Given the description of an element on the screen output the (x, y) to click on. 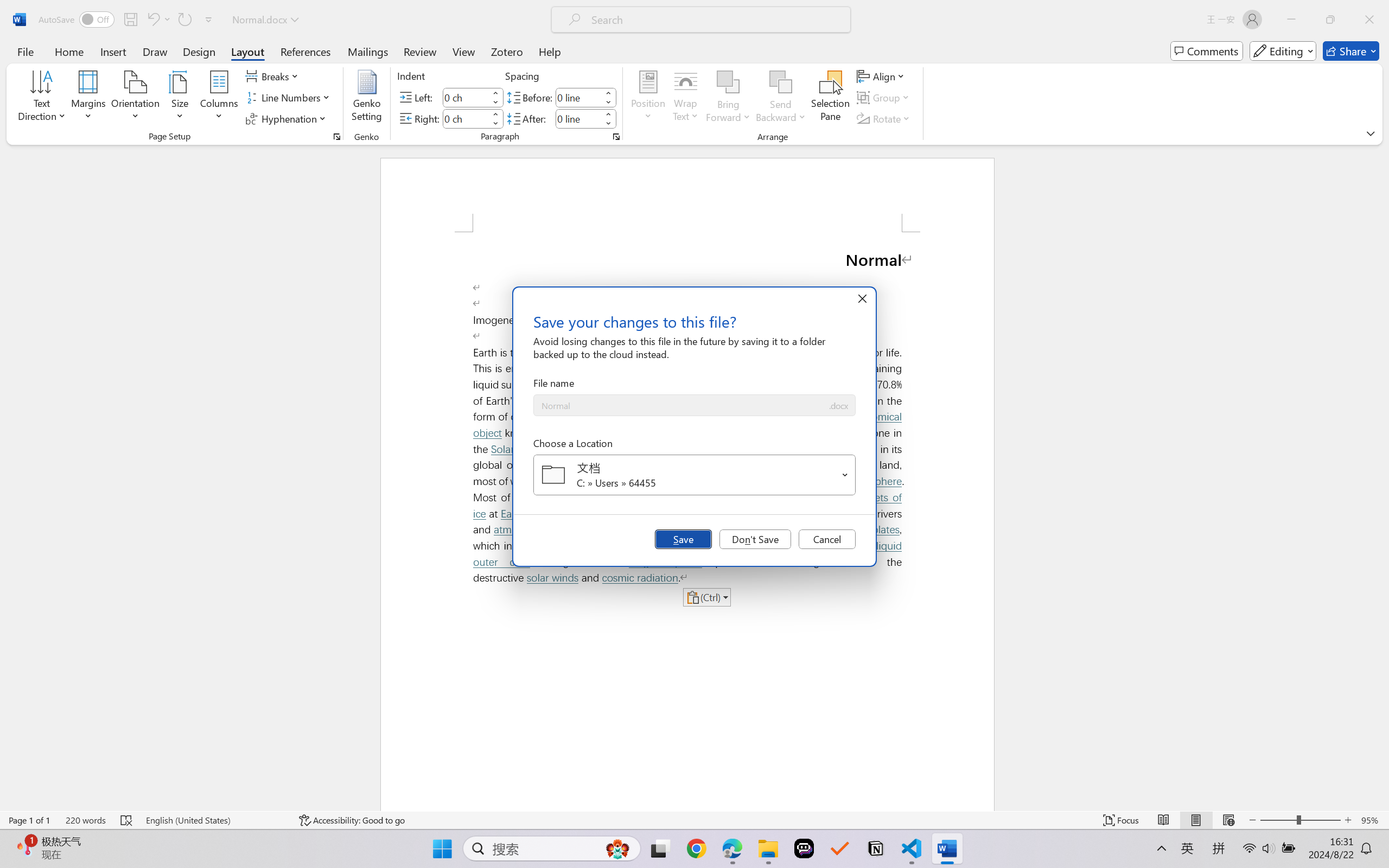
Size (180, 97)
Class: NetUIScrollBar (1382, 477)
Breaks (273, 75)
Position (647, 97)
Margins (88, 97)
Poe (804, 848)
Indent Left (465, 96)
Align (881, 75)
